Given the description of an element on the screen output the (x, y) to click on. 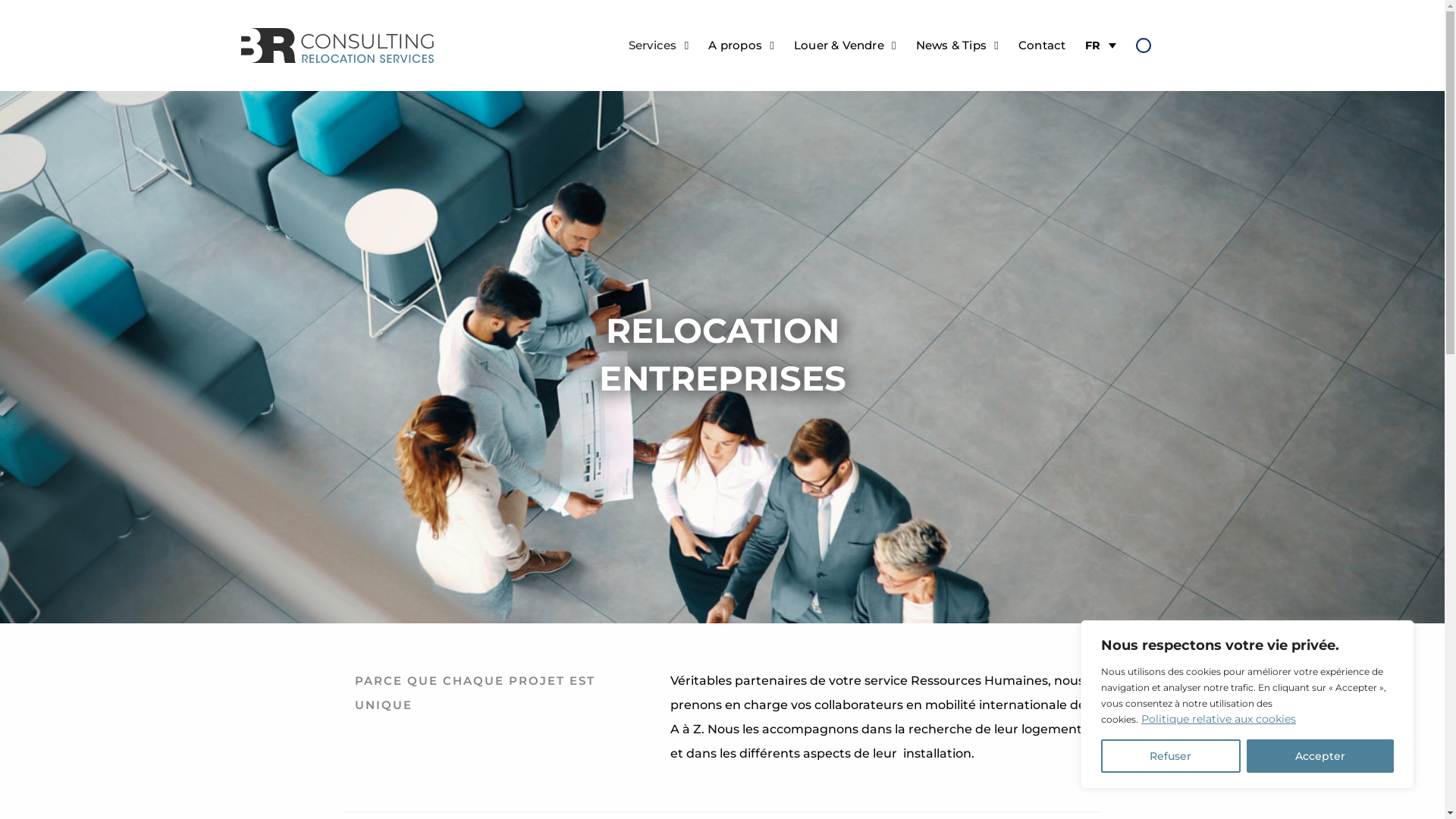
News & Tips Element type: text (950, 45)
Louer & Vendre Element type: text (838, 45)
Accepter Element type: text (1320, 755)
Contact Element type: text (1041, 45)
FR Element type: text (1100, 44)
Politique relative aux cookies Element type: text (1218, 718)
A propos Element type: text (735, 45)
Refuser Element type: text (1170, 755)
Services Element type: text (652, 45)
